Given the description of an element on the screen output the (x, y) to click on. 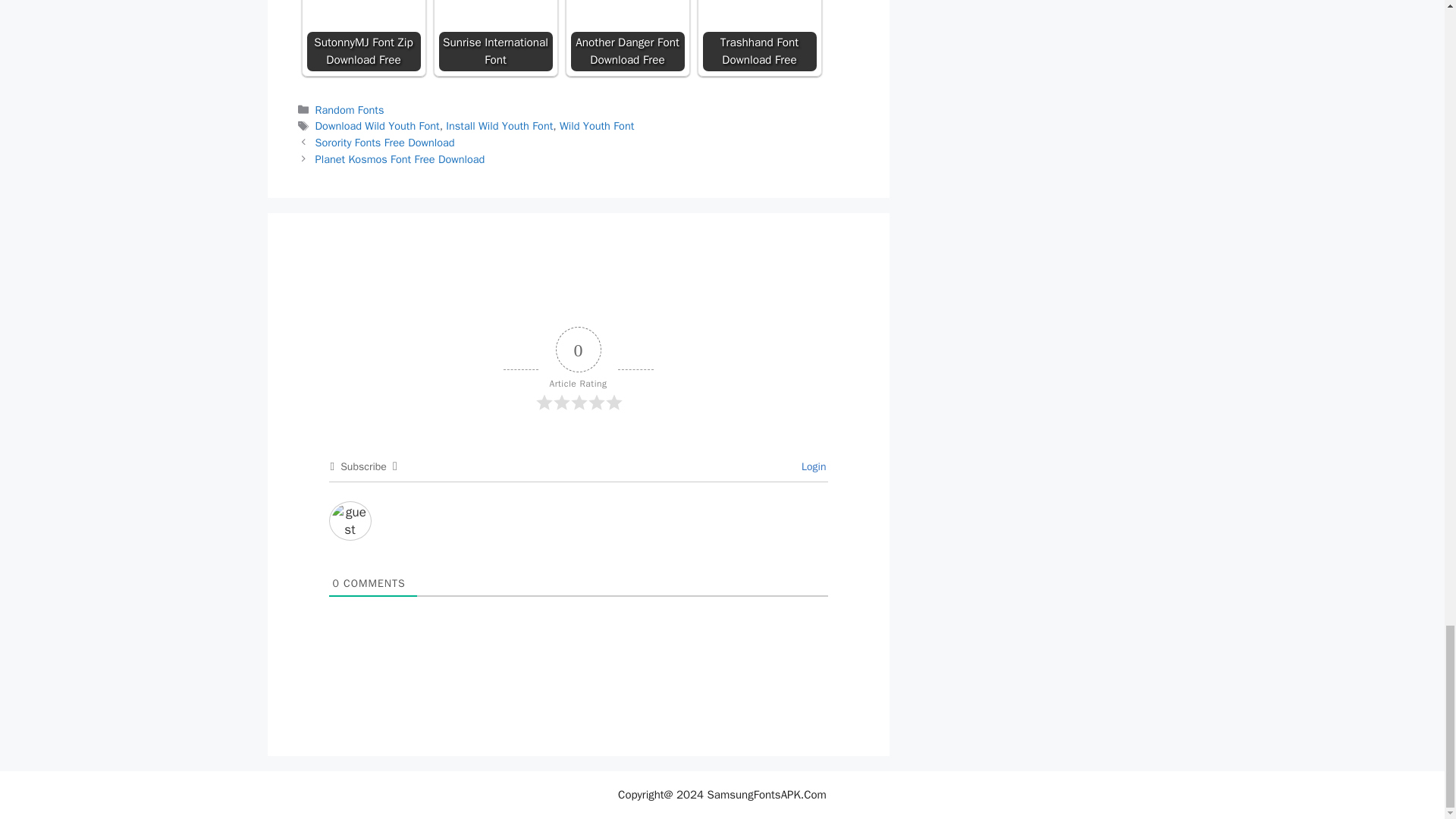
Sorority Fonts Free Download (384, 142)
Random Fonts (349, 110)
Another Danger Font Download Free (627, 35)
Trashhand Font Download Free (758, 35)
Wild Youth Font (596, 125)
Download Wild Youth Font (377, 125)
Install Wild Youth Font (499, 125)
Login (811, 466)
Sunrise International Font (494, 35)
SutonnyMJ Font Zip Download Free (362, 35)
